Given the description of an element on the screen output the (x, y) to click on. 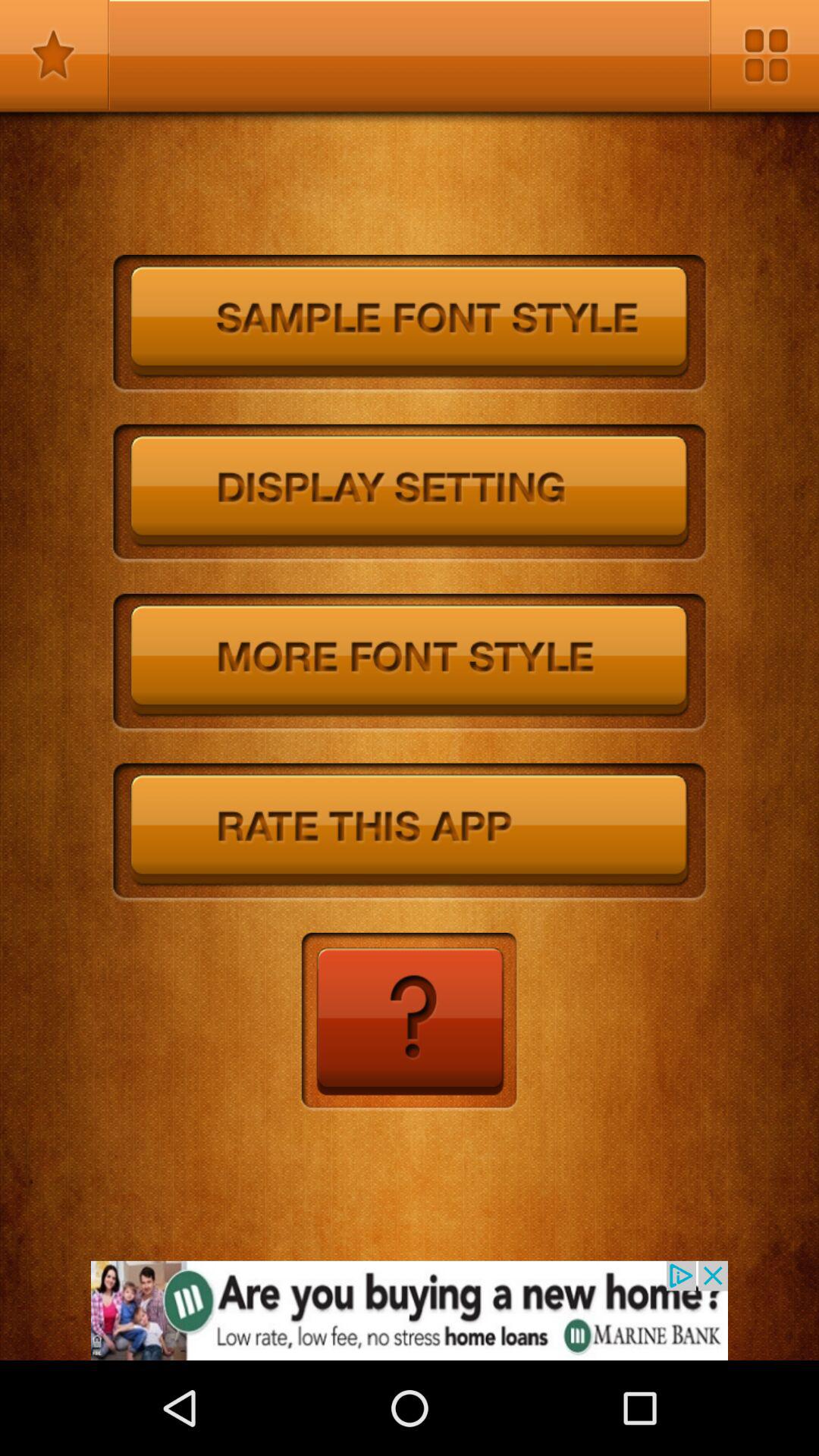
bookmark this apge (54, 54)
